Given the description of an element on the screen output the (x, y) to click on. 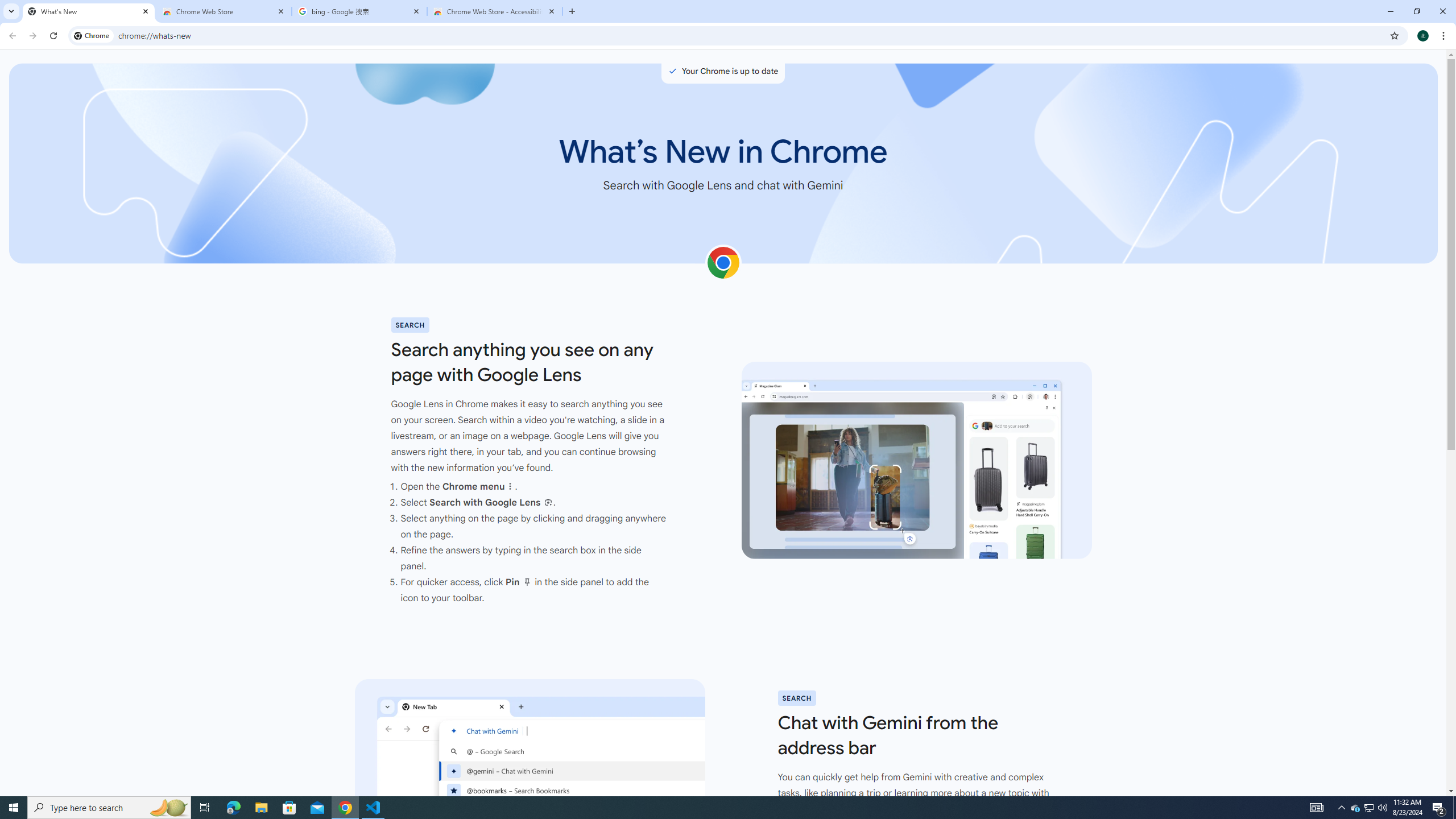
Chrome Web Store - Accessibility (494, 11)
Chrome Web Store (224, 11)
